Given the description of an element on the screen output the (x, y) to click on. 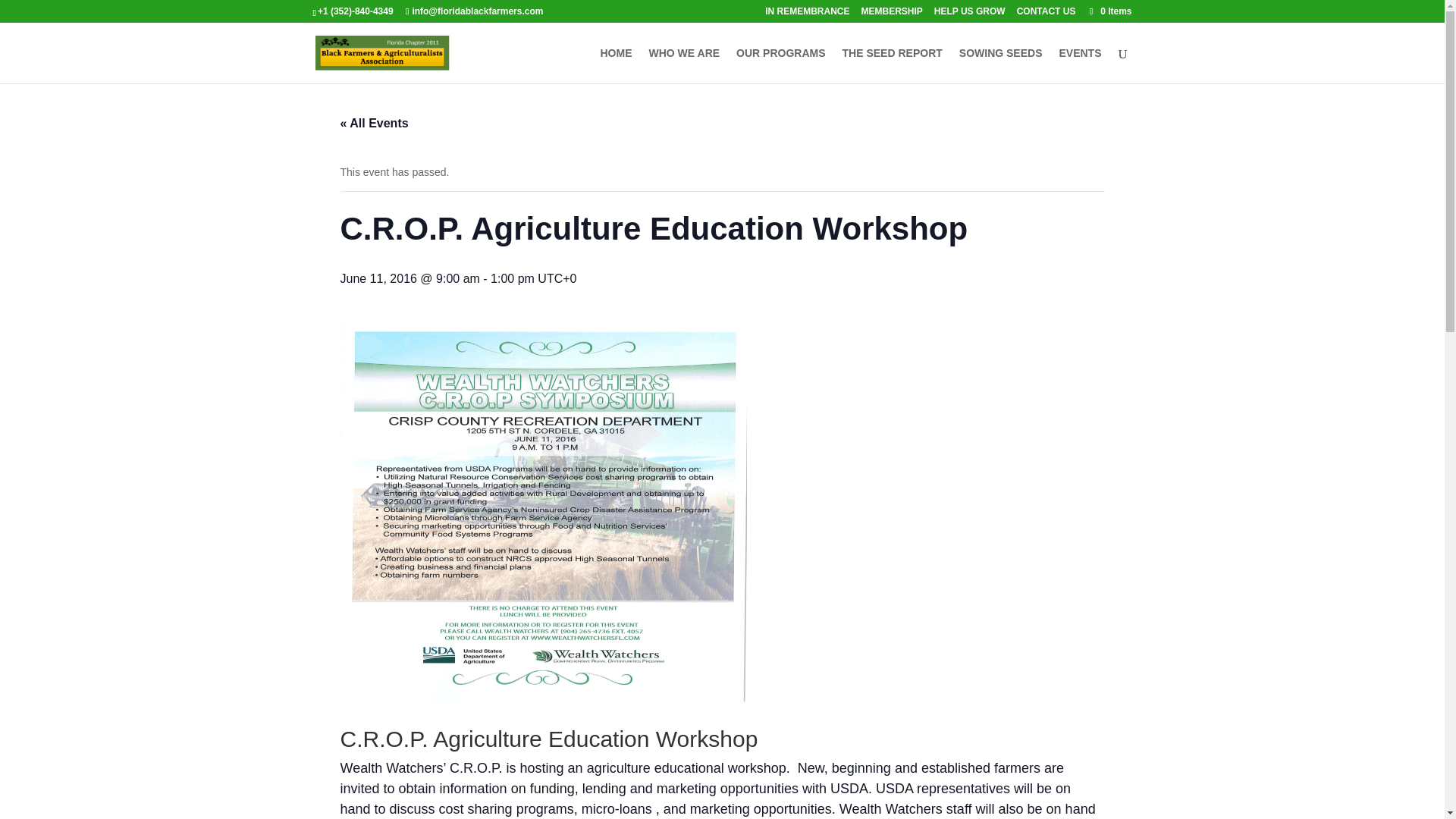
CONTACT US (1045, 14)
WHO WE ARE (684, 65)
EVENTS (1079, 65)
HELP US GROW (970, 14)
SOWING SEEDS (1000, 65)
0 Items (1108, 10)
HOME (615, 65)
MEMBERSHIP (890, 14)
THE SEED REPORT (892, 65)
OUR PROGRAMS (780, 65)
